Given the description of an element on the screen output the (x, y) to click on. 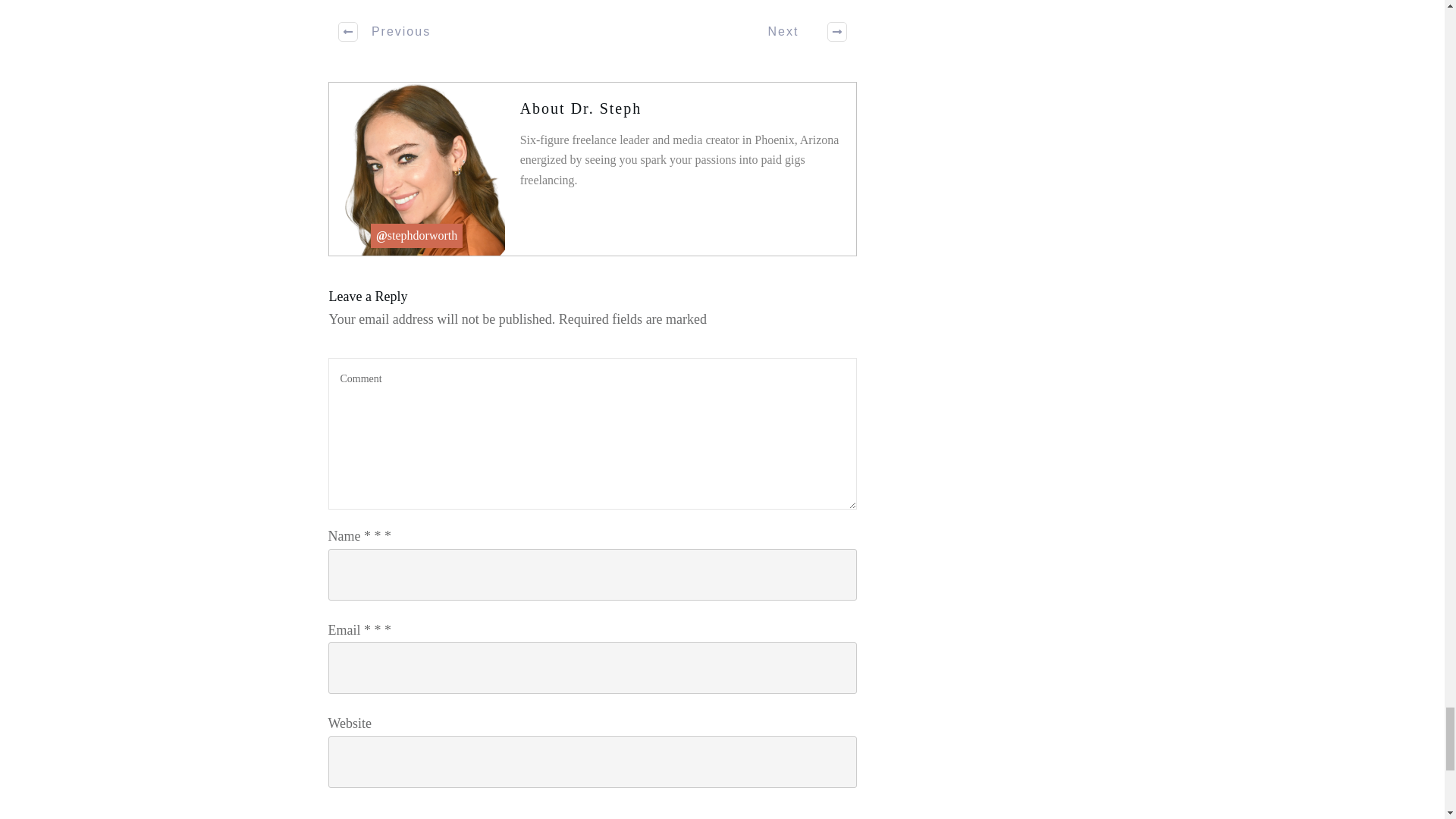
Next (798, 31)
stephdorworth (422, 235)
Previous (385, 31)
